Given the description of an element on the screen output the (x, y) to click on. 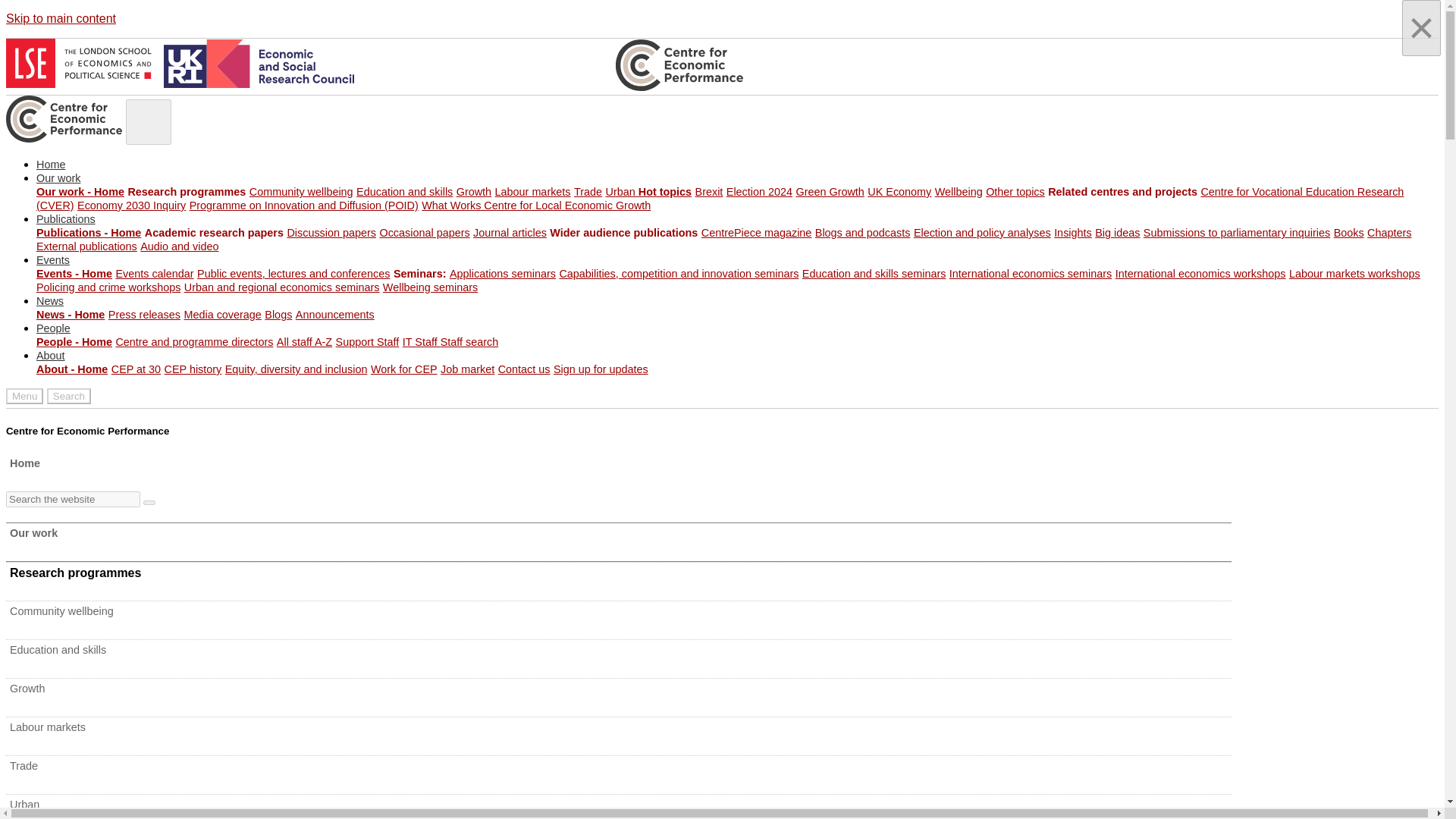
Brexit (709, 191)
Other topics (1015, 191)
Publications (66, 218)
Publications - Home (88, 232)
Election and policy analyses (982, 232)
Discussion papers (330, 232)
Green Growth (828, 191)
Blogs and podcasts (863, 232)
Wellbeing (958, 191)
Urban (622, 191)
Education and skills (404, 191)
Research programmes (187, 191)
CentrePiece magazine (756, 232)
Skip to main content (60, 18)
What Works Centre for Local Economic Growth (536, 205)
